Given the description of an element on the screen output the (x, y) to click on. 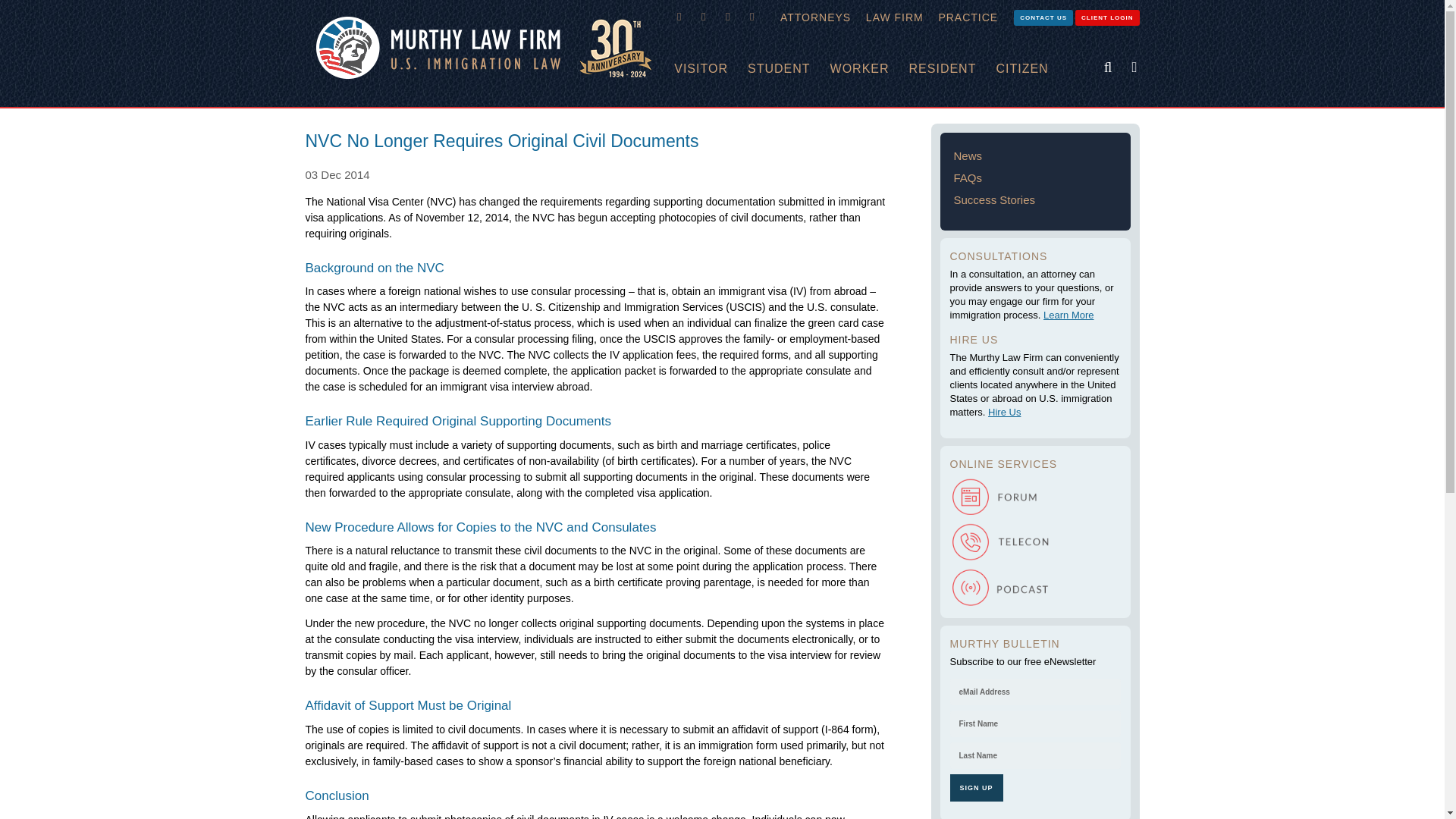
Sign up (976, 787)
STUDENT (788, 69)
PRACTICE (967, 17)
ATTORNEYS (815, 17)
CLIENT LOGIN (1106, 17)
WORKER (868, 69)
RESIDENT (951, 69)
LAW FIRM (895, 17)
CONTACT US (1043, 17)
VISITOR (711, 69)
